Given the description of an element on the screen output the (x, y) to click on. 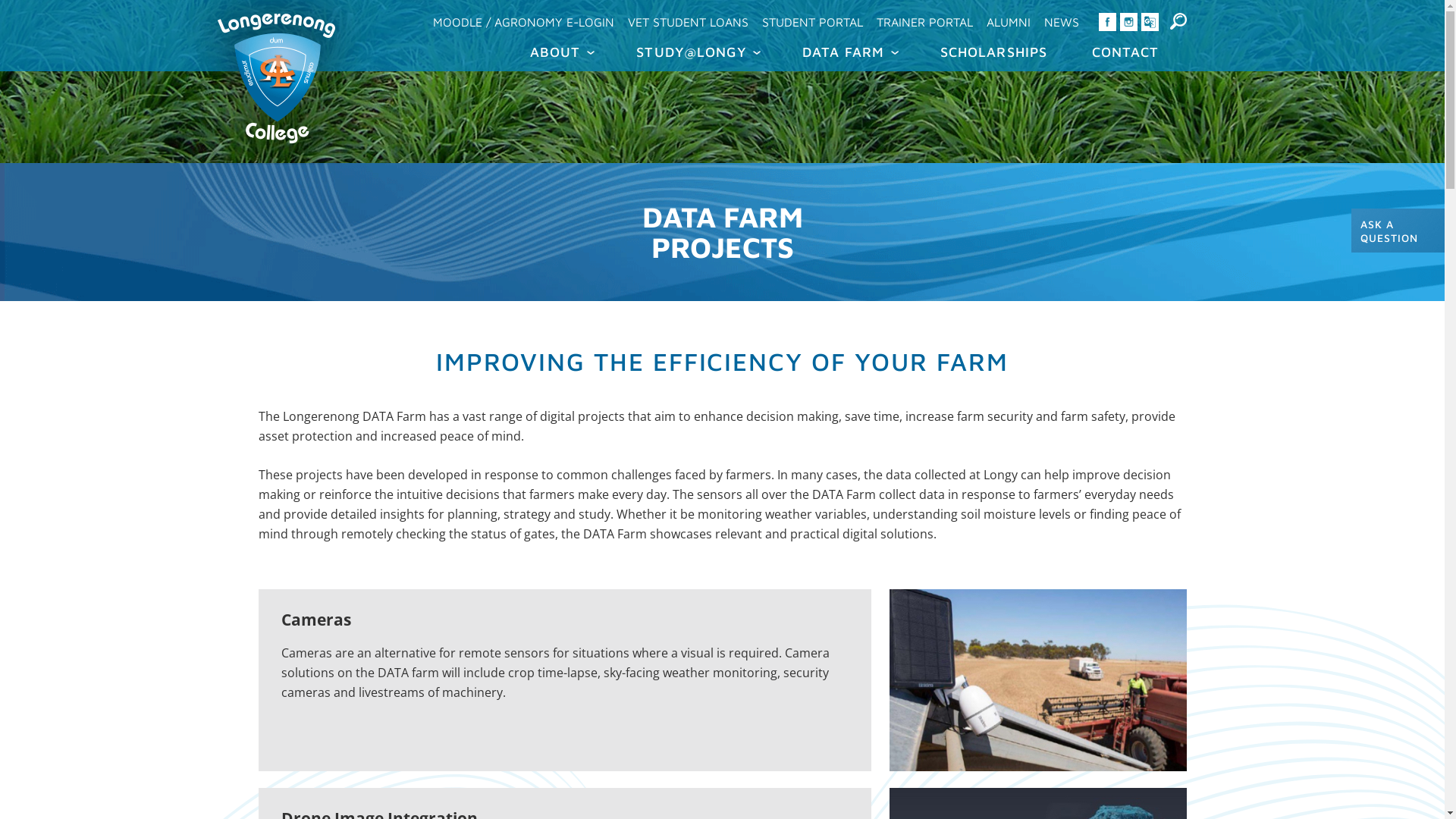
STUDENT PORTAL Element type: text (812, 21)
VET STUDENT LOANS Element type: text (687, 21)
NEWS Element type: text (1061, 21)
ALUMNI Element type: text (1008, 21)
CONTACT Element type: text (1122, 51)
ASK A
QUESTION Element type: text (1397, 230)
SCHOLARSHIPS Element type: text (993, 51)
TRAINER PORTAL Element type: text (924, 21)
MOODLE / AGRONOMY E-LOGIN Element type: text (523, 21)
Skip to main content Element type: text (686, 1)
